Given the description of an element on the screen output the (x, y) to click on. 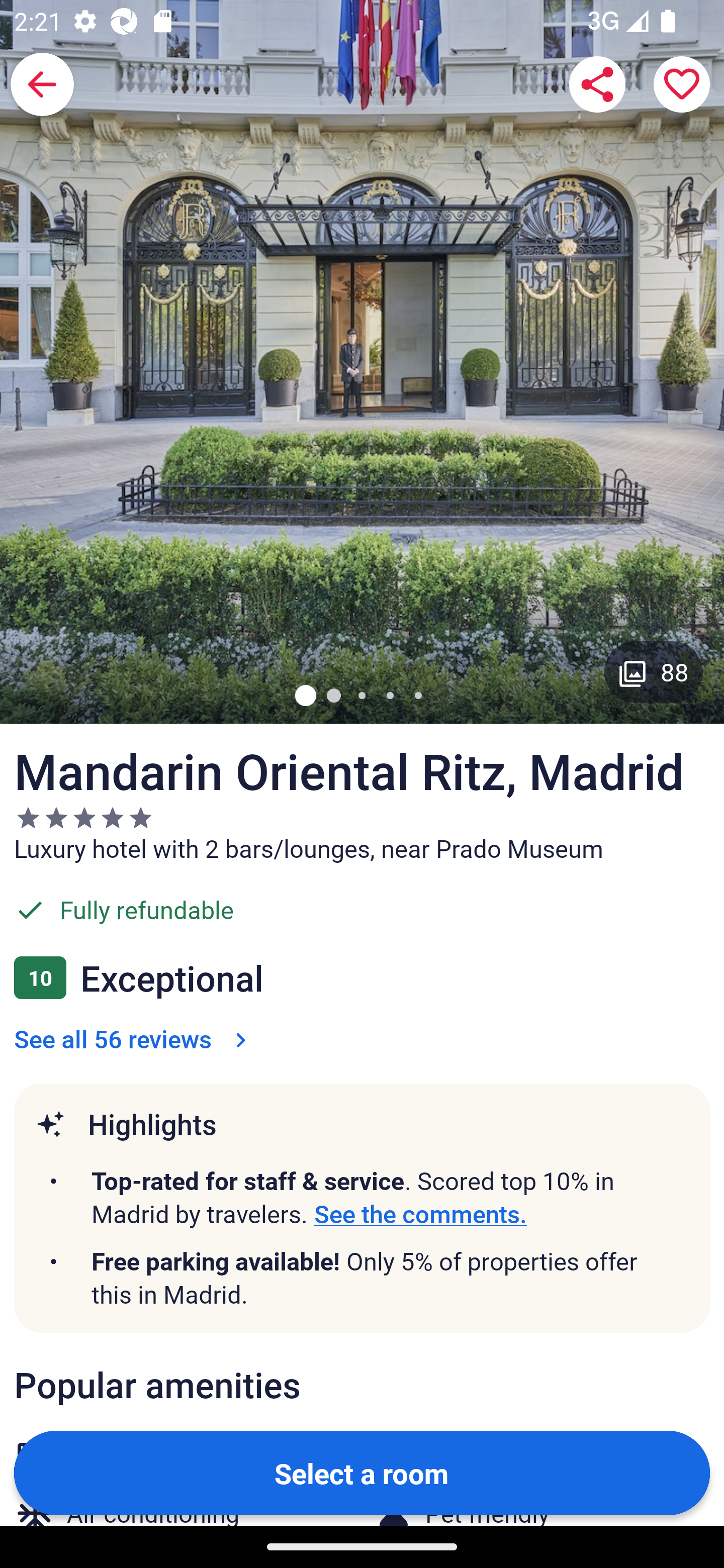
Back (42, 84)
Save property to a trip (681, 84)
Share Mandarin Oriental Ritz, Madrid (597, 84)
Gallery button with 88 images (653, 671)
See all 56 reviews See all 56 reviews Link (133, 1038)
Select a room Button Select a room (361, 1472)
